Given the description of an element on the screen output the (x, y) to click on. 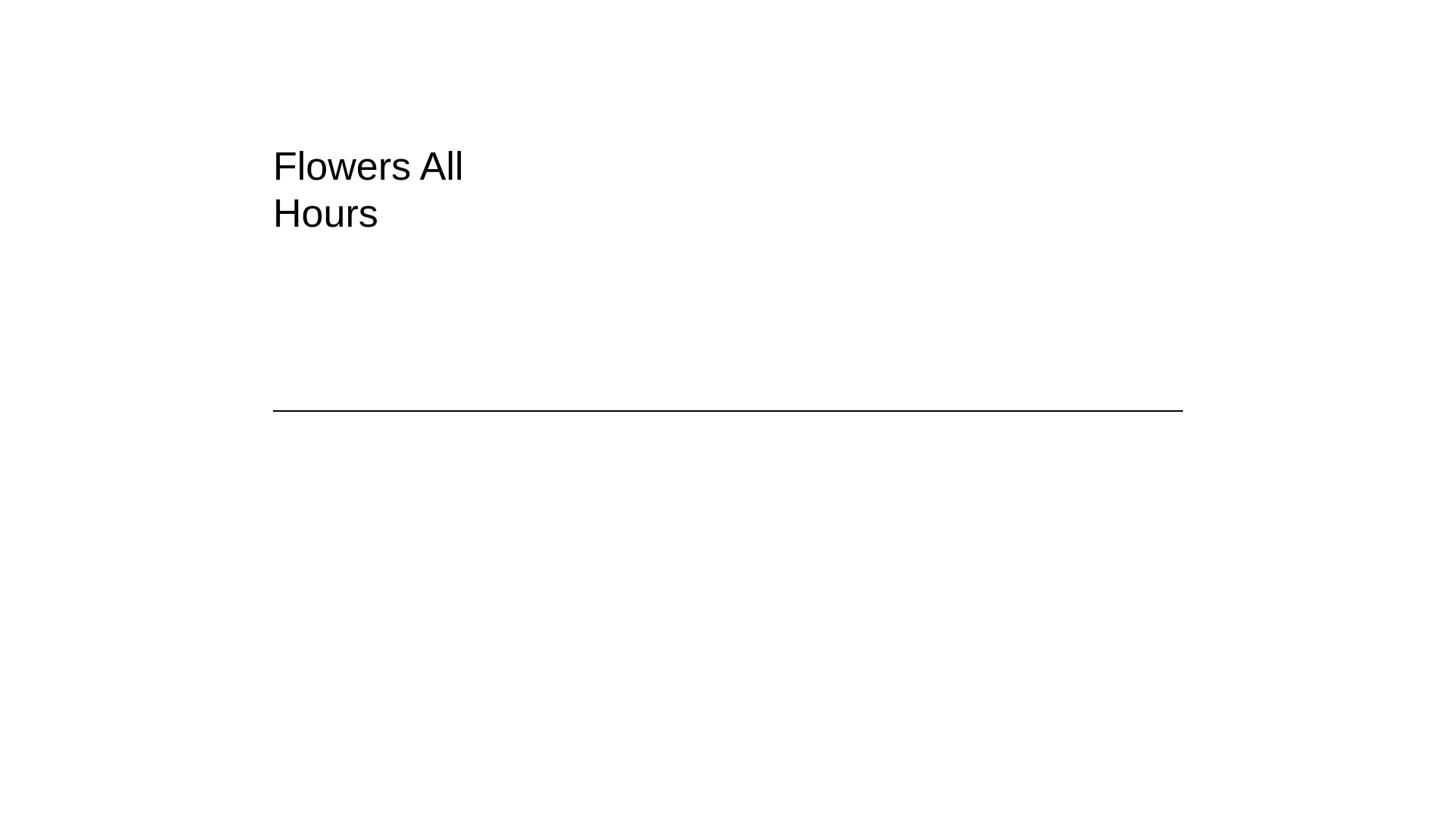
Flowers All Hours Element type: text (418, 189)
